Given the description of an element on the screen output the (x, y) to click on. 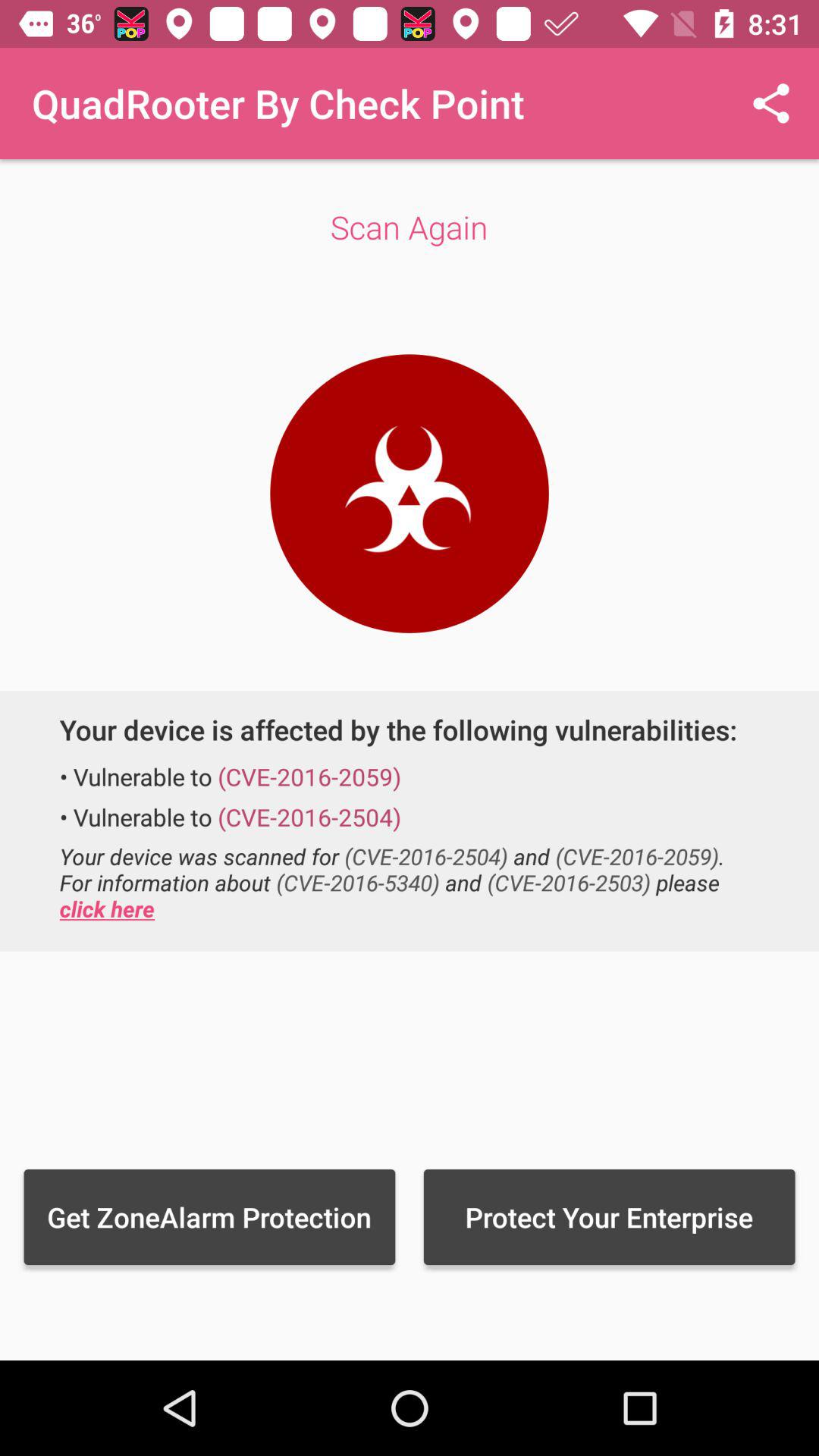
jump to the scan again item (408, 226)
